Given the description of an element on the screen output the (x, y) to click on. 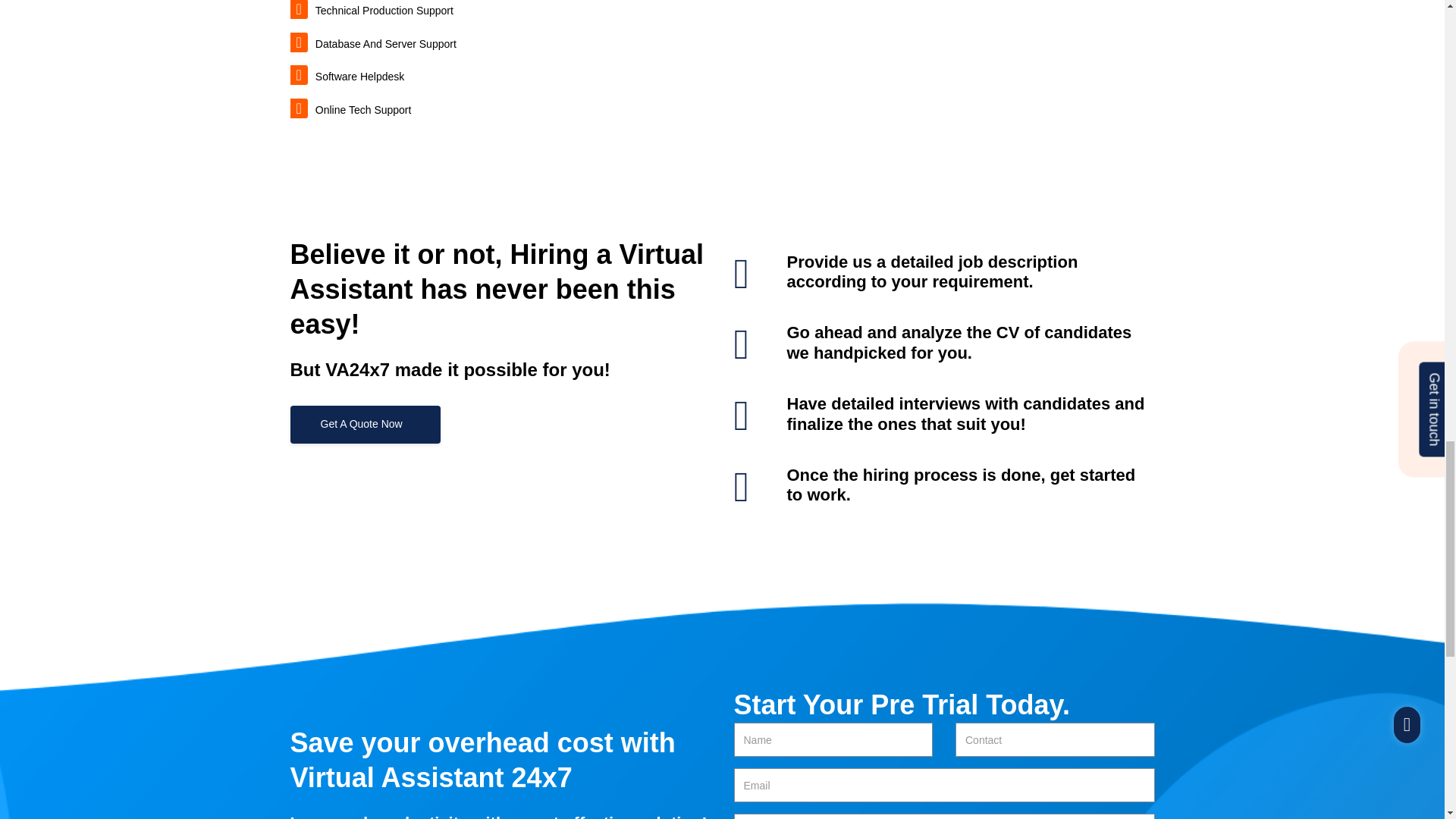
Get A Quote Now (364, 424)
